Given the description of an element on the screen output the (x, y) to click on. 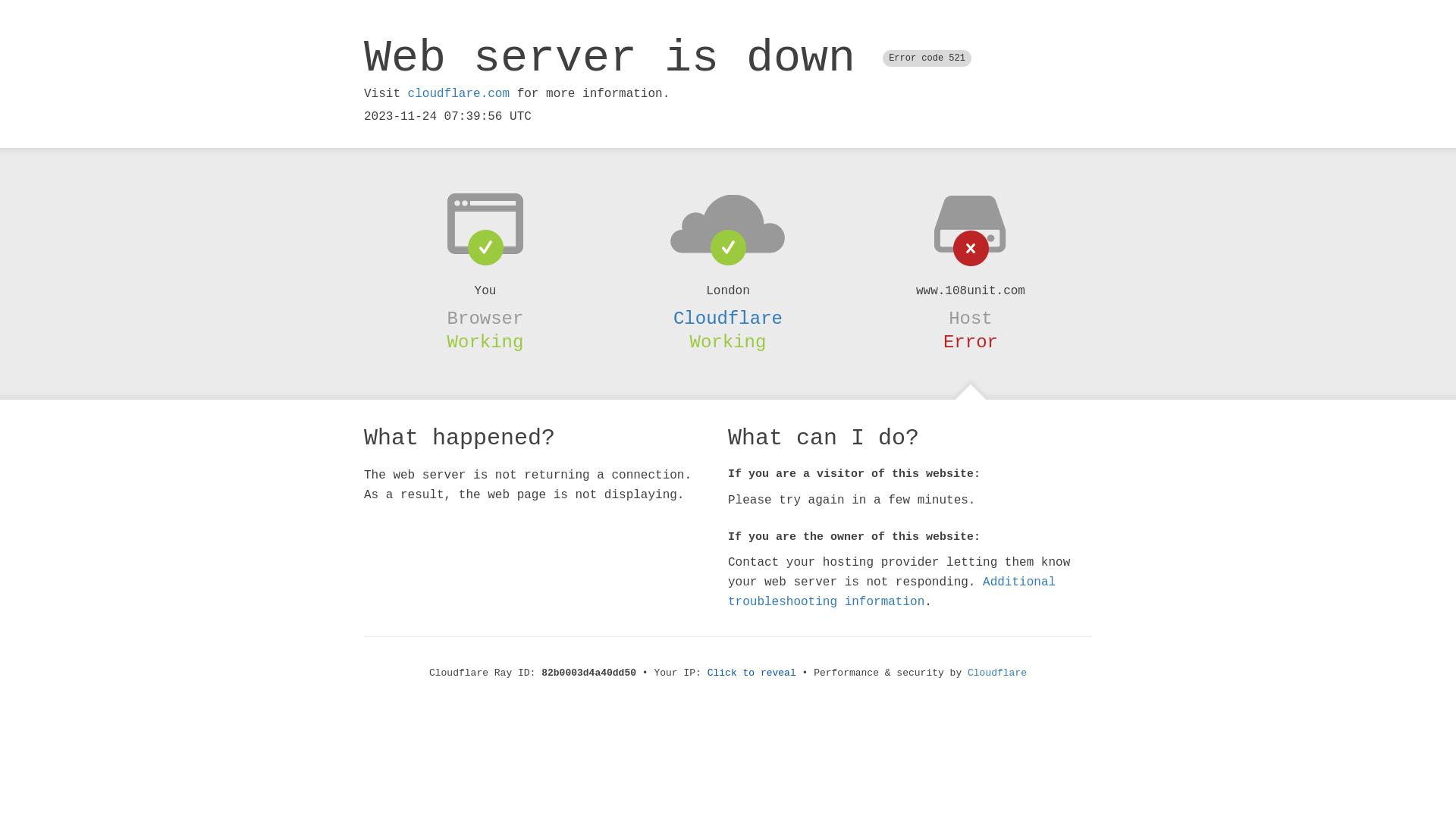
Cloudflare Element type: text (727, 318)
Cloudflare Element type: text (996, 672)
cloudflare.com Element type: text (458, 93)
Additional troubleshooting information Element type: text (891, 591)
Click to reveal Element type: text (751, 672)
